Given the description of an element on the screen output the (x, y) to click on. 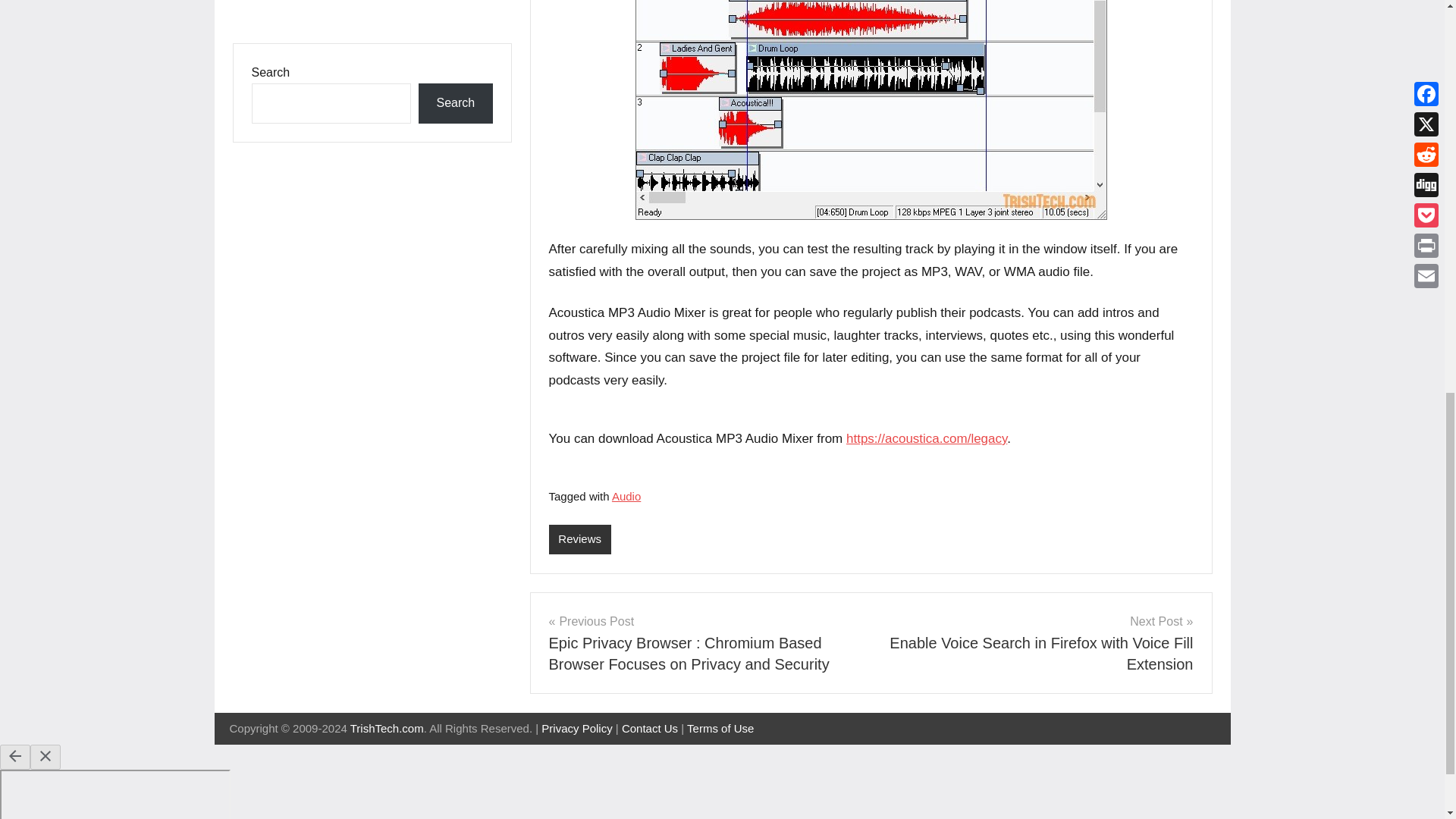
Audio (625, 495)
Reviews (579, 539)
Search (455, 103)
Terms of Use (720, 727)
Privacy Policy (576, 727)
Advertisement (371, 12)
TrishTech.com (386, 727)
Contact Us (649, 727)
